Given the description of an element on the screen output the (x, y) to click on. 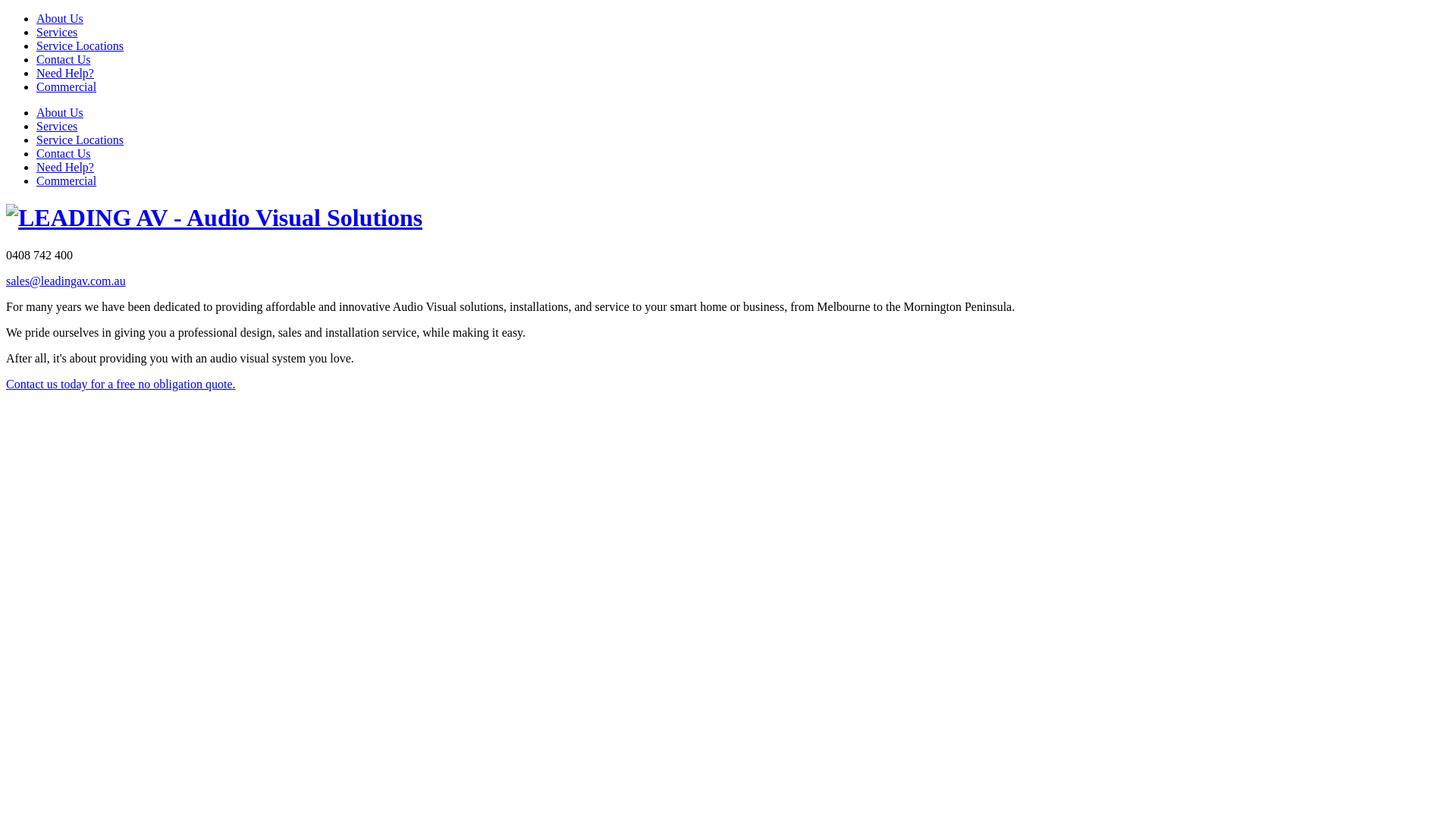
Service Locations Element type: text (79, 45)
Need Help? Element type: text (65, 72)
Contact Us Element type: text (63, 153)
sales@leadingav.com.au Element type: text (65, 280)
Services Element type: text (56, 31)
About Us Element type: text (59, 112)
About Us Element type: text (59, 18)
Services Element type: text (56, 125)
Need Help? Element type: text (65, 166)
Service Locations Element type: text (79, 139)
Commercial Element type: text (66, 86)
Contact us today for a free no obligation quote. Element type: text (120, 383)
Commercial Element type: text (66, 180)
Contact Us Element type: text (63, 59)
